Given the description of an element on the screen output the (x, y) to click on. 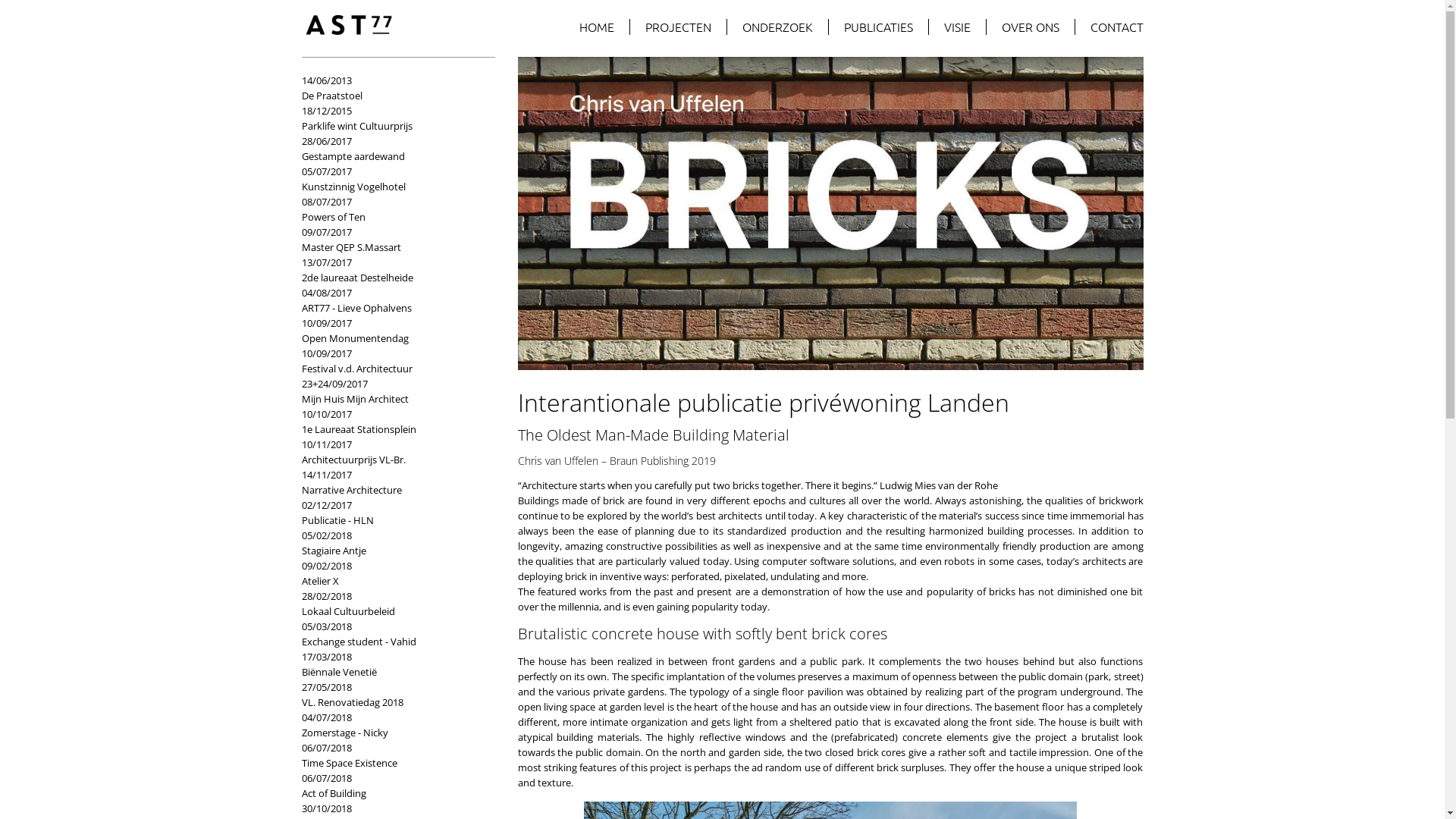
09/07/2017
Master QEP S.Massart Element type: text (390, 239)
05/07/2017
Kunstzinnig Vogelhotel Element type: text (390, 178)
04/08/2017
ART77 - Lieve Ophalvens Element type: text (390, 300)
VISIE Element type: text (956, 26)
27/05/2018
VL. Renovatiedag 2018 Element type: text (390, 694)
18/12/2015
Parklife wint Cultuurprijs Element type: text (390, 118)
PROJECTEN Element type: text (677, 26)
05/03/2018
Exchange student - Vahid Element type: text (390, 633)
06/07/2018
Act of Building Element type: text (390, 785)
HOME Element type: text (597, 26)
06/07/2018
Time Space Existence Element type: text (390, 755)
14/11/2017
Narrative Architecture Element type: text (390, 482)
23+24/09/2017
Mijn Huis Mijn Architect Element type: text (390, 391)
14/06/2013
De Praatstoel Element type: text (390, 87)
08/07/2017
Powers of Ten Element type: text (390, 209)
13/07/2017
2de laureaat Destelheide Element type: text (390, 269)
CONTACT Element type: text (1109, 26)
10/10/2017
1e Laureaat Stationsplein Element type: text (390, 421)
28/02/2018
Lokaal Cultuurbeleid Element type: text (390, 603)
10/11/2017
Architectuurprijs VL-Br. Element type: text (390, 451)
05/02/2018
Stagiaire Antje Element type: text (390, 542)
09/02/2018
Atelier X Element type: text (390, 573)
PUBLICATIES Element type: text (878, 26)
28/06/2017
Gestampte aardewand Element type: text (390, 148)
02/12/2017
Publicatie - HLN Element type: text (390, 512)
10/09/2017
Festival v.d. Architectuur Element type: text (390, 360)
10/09/2017
Open Monumentendag Element type: text (390, 330)
ONDERZOEK Element type: text (777, 26)
04/07/2018
Zomerstage - Nicky Element type: text (390, 724)
OVER ONS Element type: text (1029, 26)
